Given the description of an element on the screen output the (x, y) to click on. 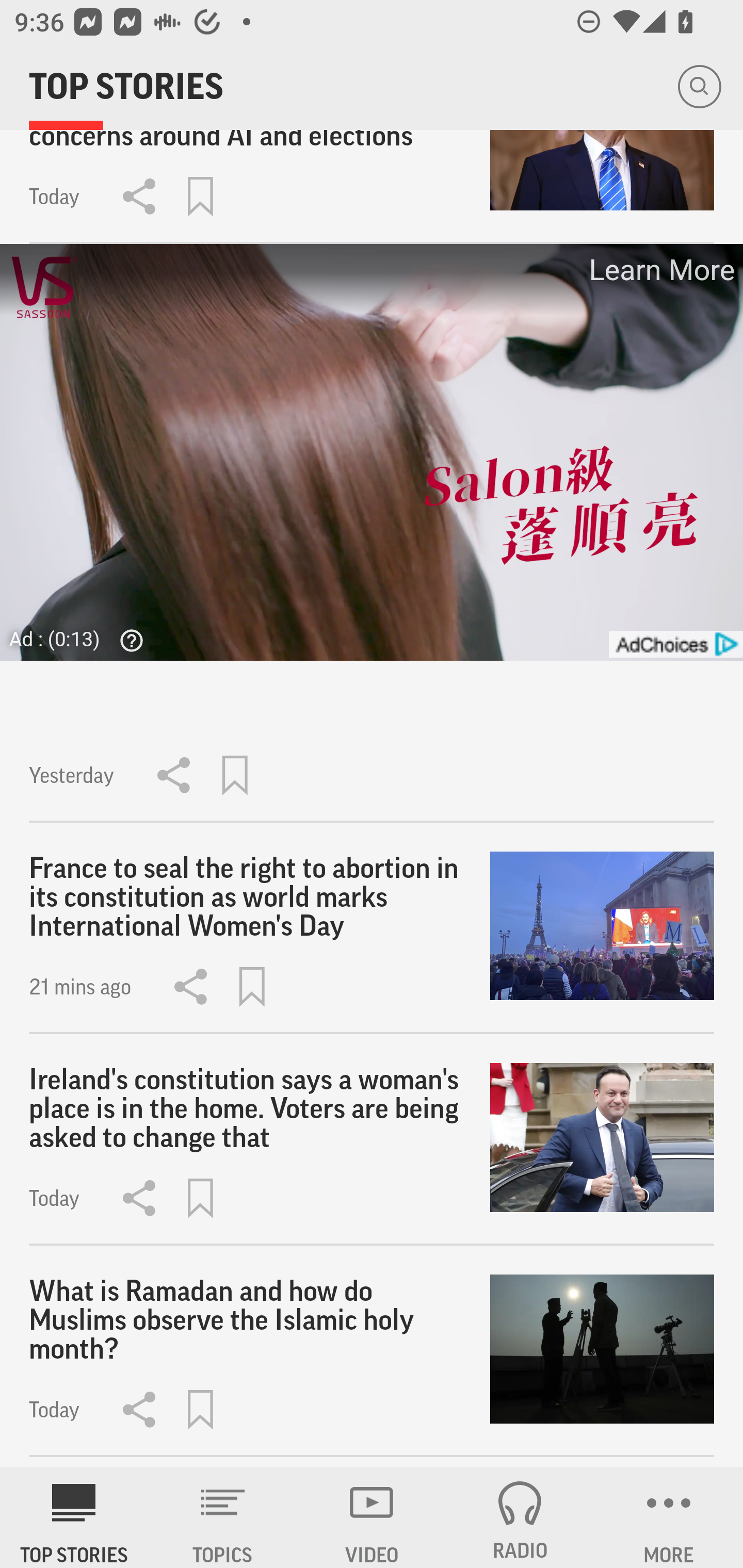
Learn More (660, 270)
Ad : (0:13) Why This Ad? (82, 638)
Why This Ad? (126, 640)
get?name=admarker-full-tl (675, 644)
AP News TOP STORIES (74, 1517)
TOPICS (222, 1517)
VIDEO (371, 1517)
RADIO (519, 1517)
MORE (668, 1517)
